Given the description of an element on the screen output the (x, y) to click on. 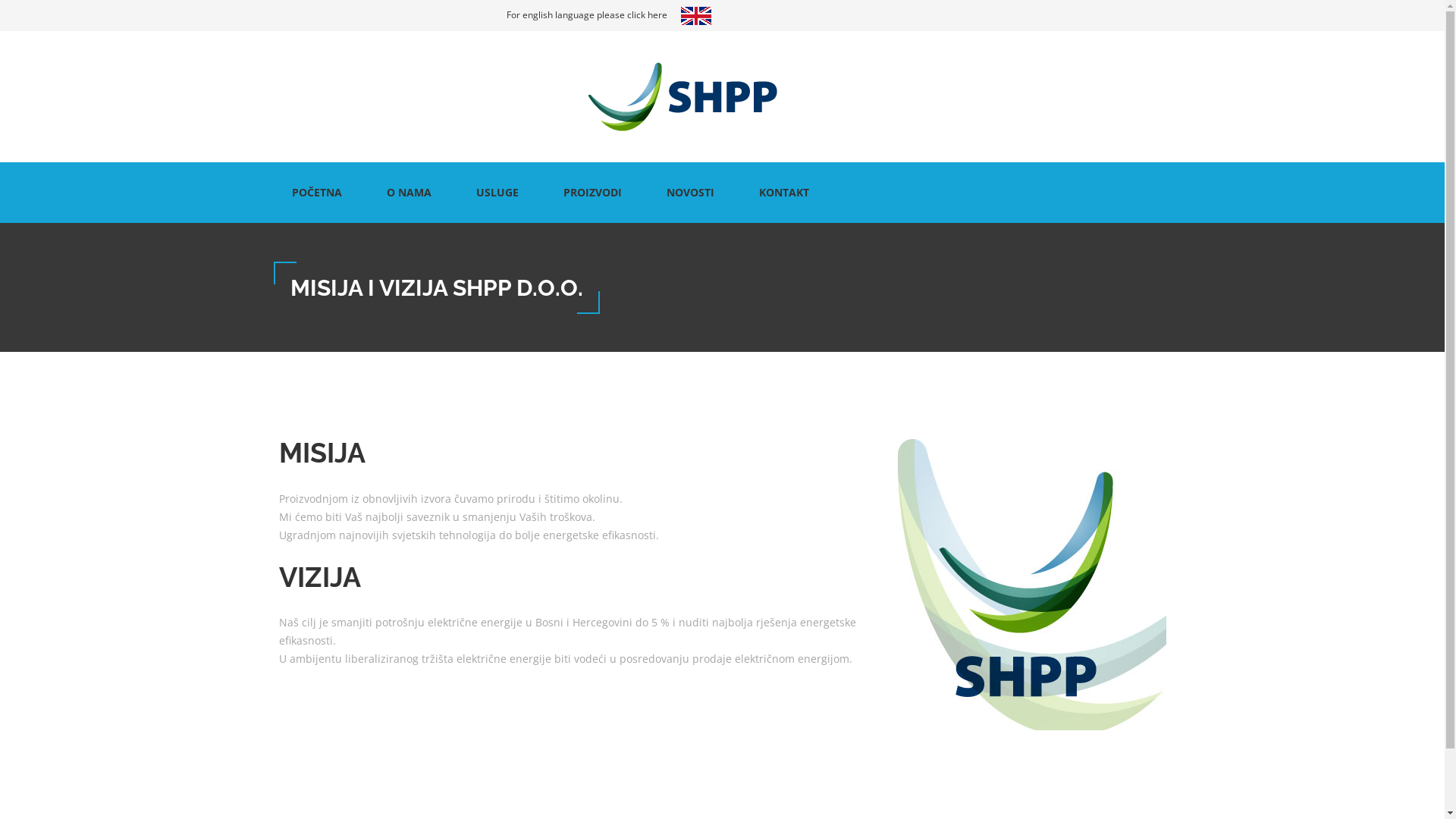
PROIZVODI Element type: text (592, 192)
NOVOSTI Element type: text (690, 192)
O NAMA Element type: text (408, 192)
USLUGE Element type: text (496, 192)
KONTAKT Element type: text (784, 192)
